Given the description of an element on the screen output the (x, y) to click on. 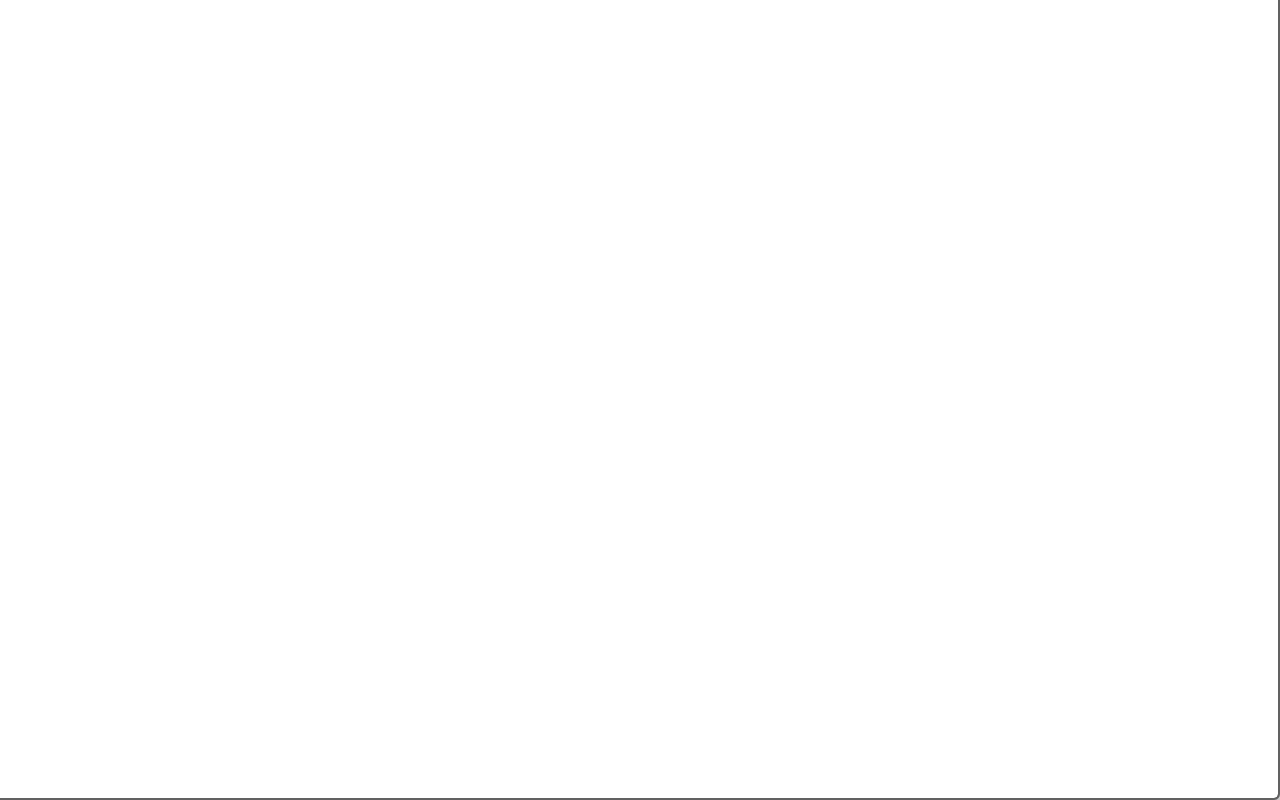
tectonic plates (313, 176)
Zoom 95% (1249, 712)
landmasses (67, 86)
land hemisphere (310, 86)
groundwater (197, 147)
